Given the description of an element on the screen output the (x, y) to click on. 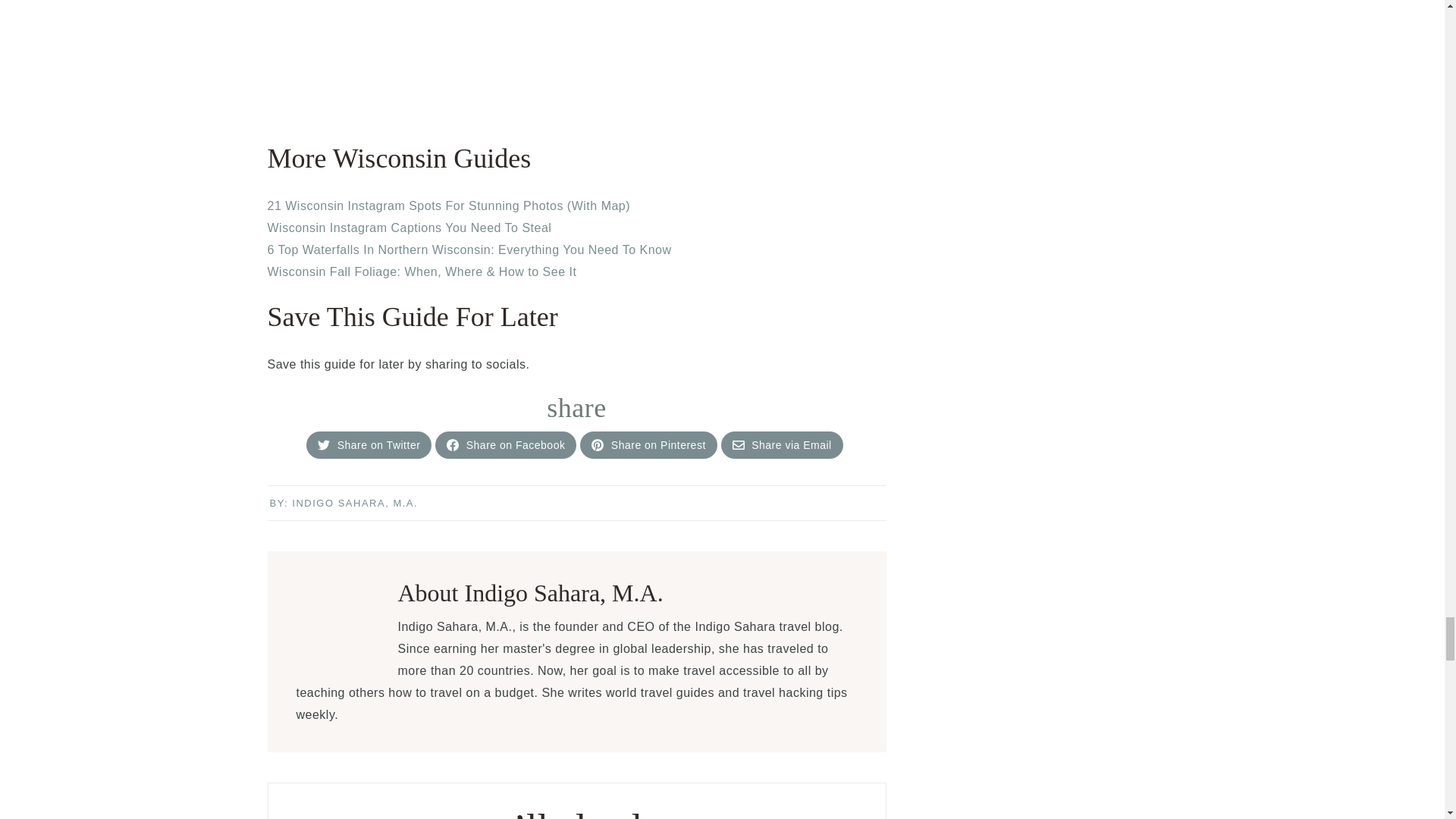
Share on Pinterest (647, 443)
Share on Facebook (505, 443)
Share on Facebook (452, 444)
Share on Pinterest (597, 444)
Share on Twitter (367, 443)
Share via Email (738, 444)
Share on Twitter (323, 444)
Share via Email (781, 443)
